Given the description of an element on the screen output the (x, y) to click on. 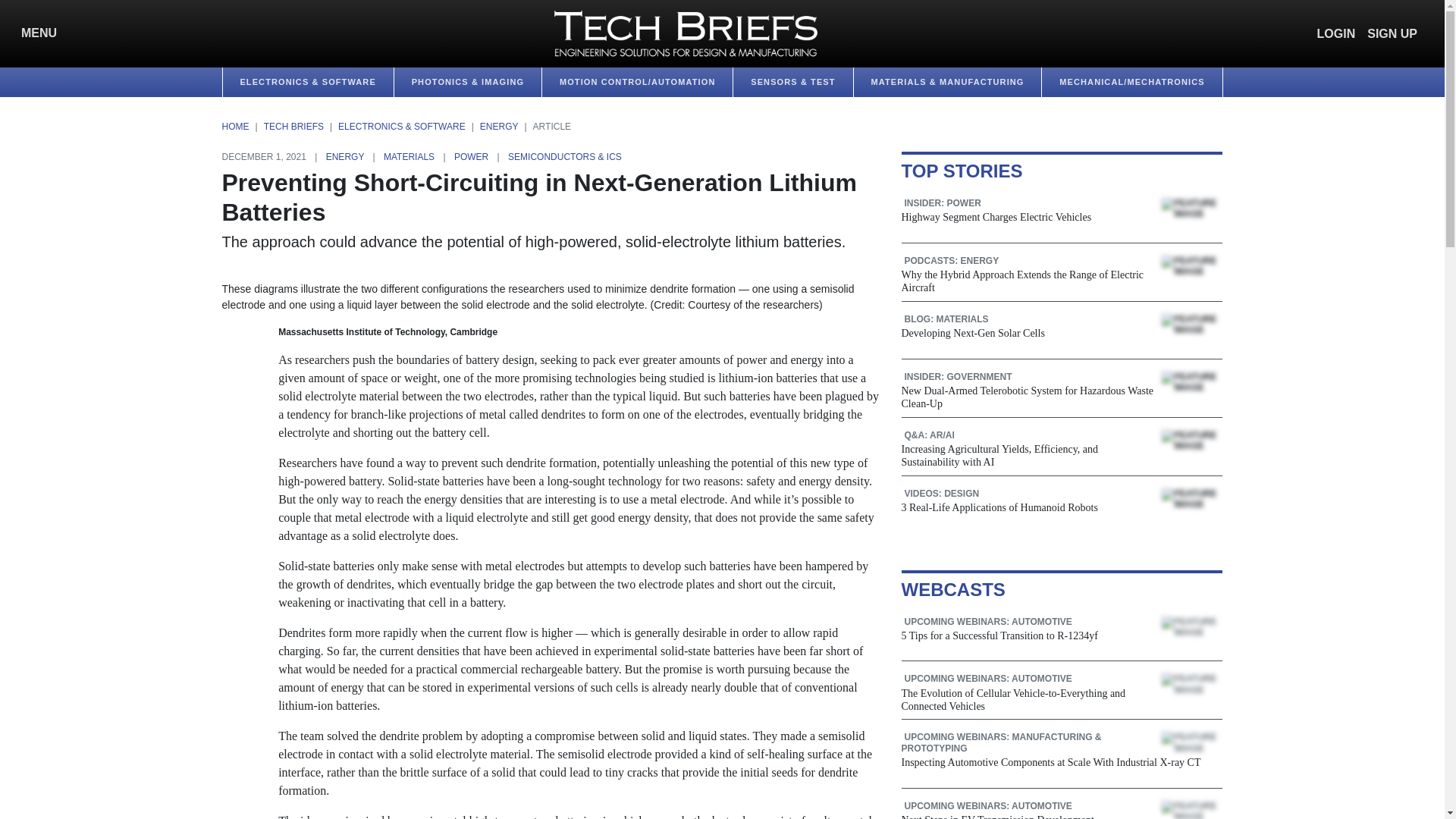
MENU (35, 33)
LOGIN (1336, 32)
SIGN UP (1392, 32)
